Given the description of an element on the screen output the (x, y) to click on. 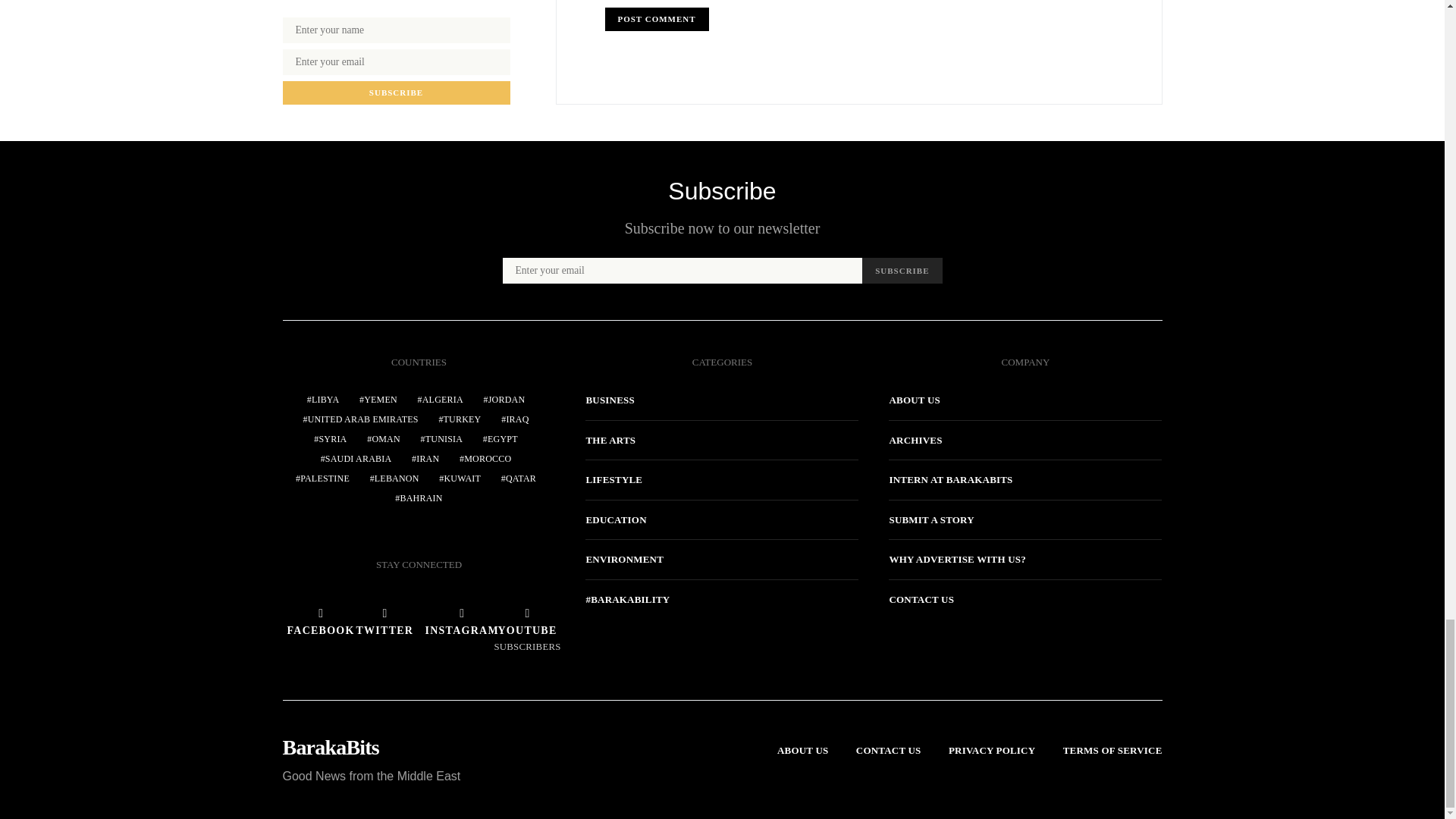
Post Comment (657, 19)
